Given the description of an element on the screen output the (x, y) to click on. 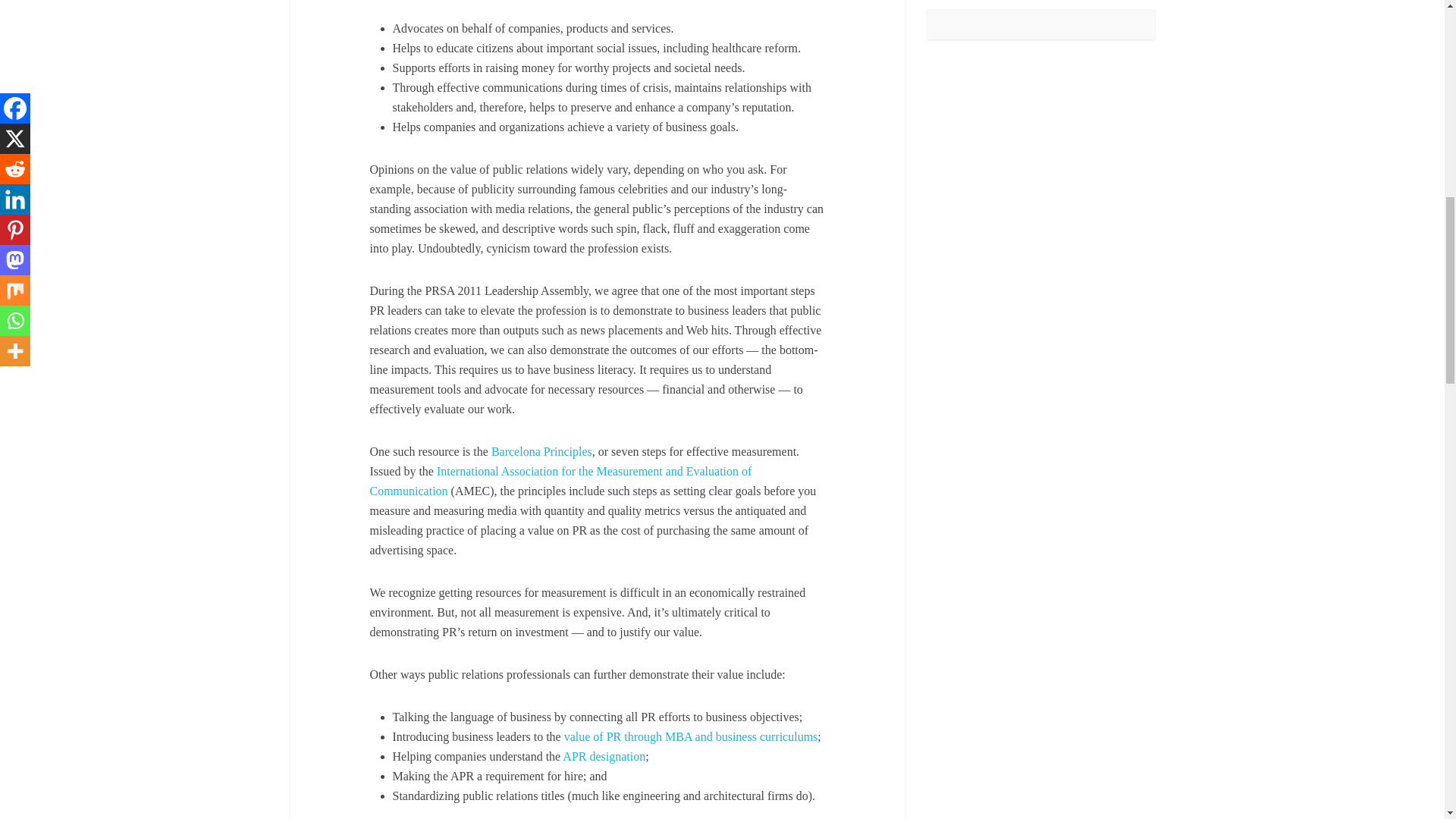
value of PR through MBA and business curriculums (691, 736)
Barcelona Principles (542, 451)
APR designation (603, 756)
